Given the description of an element on the screen output the (x, y) to click on. 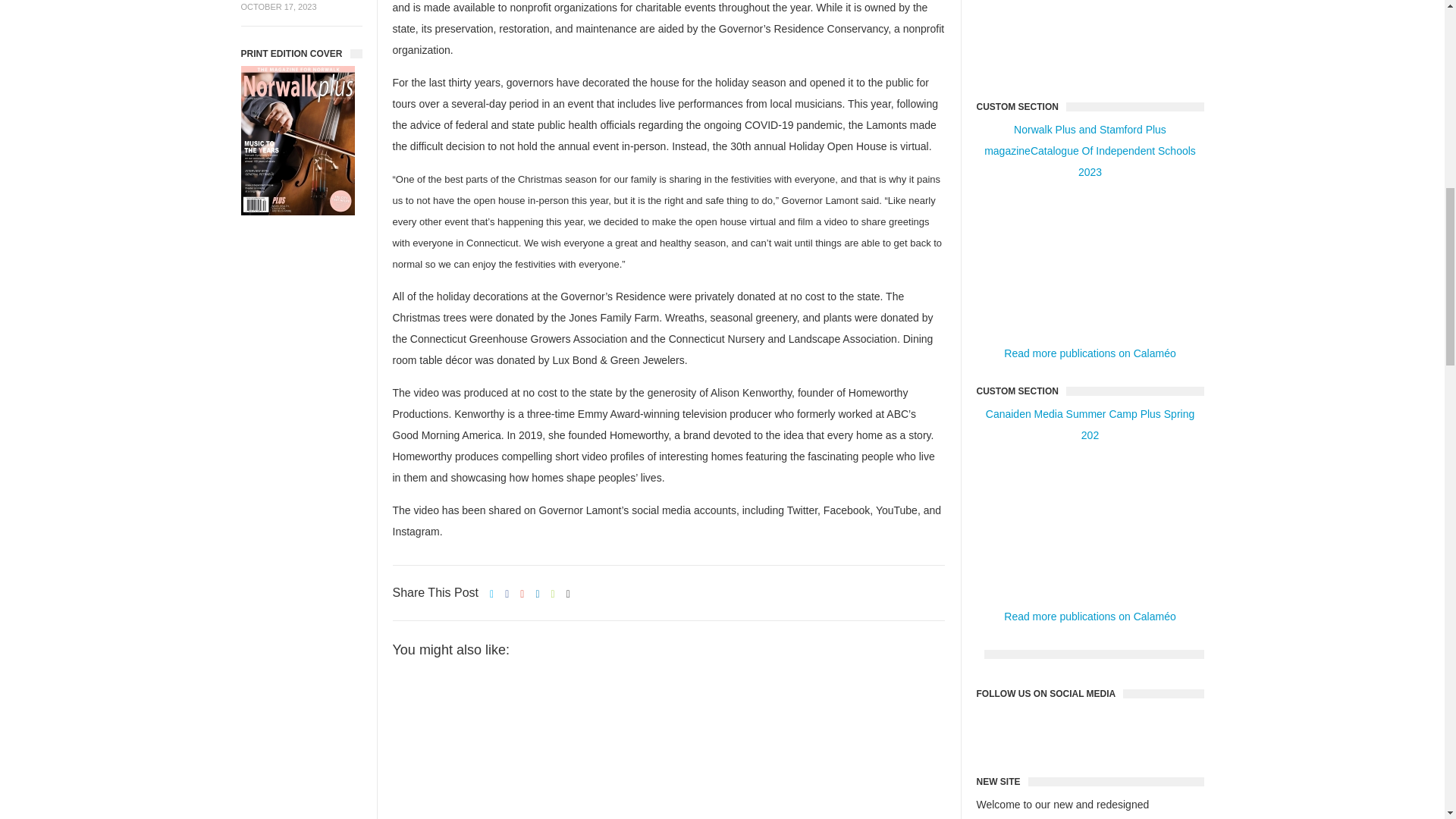
Facebook (1065, 729)
Advertisement (1090, 39)
Twitter (1115, 729)
